Given the description of an element on the screen output the (x, y) to click on. 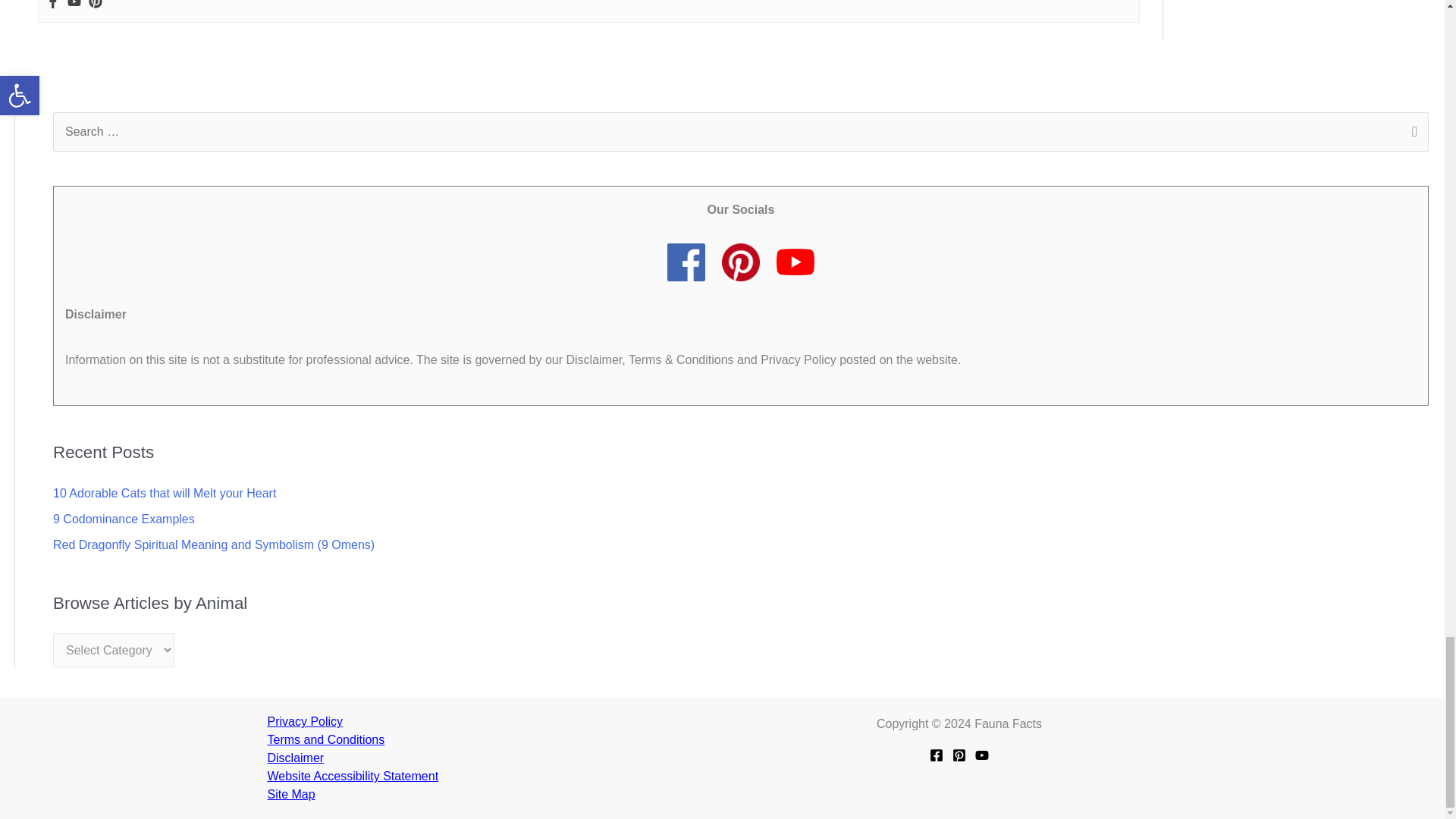
Facebook (52, 5)
Youtube (73, 5)
Pinterest (94, 5)
